Given the description of an element on the screen output the (x, y) to click on. 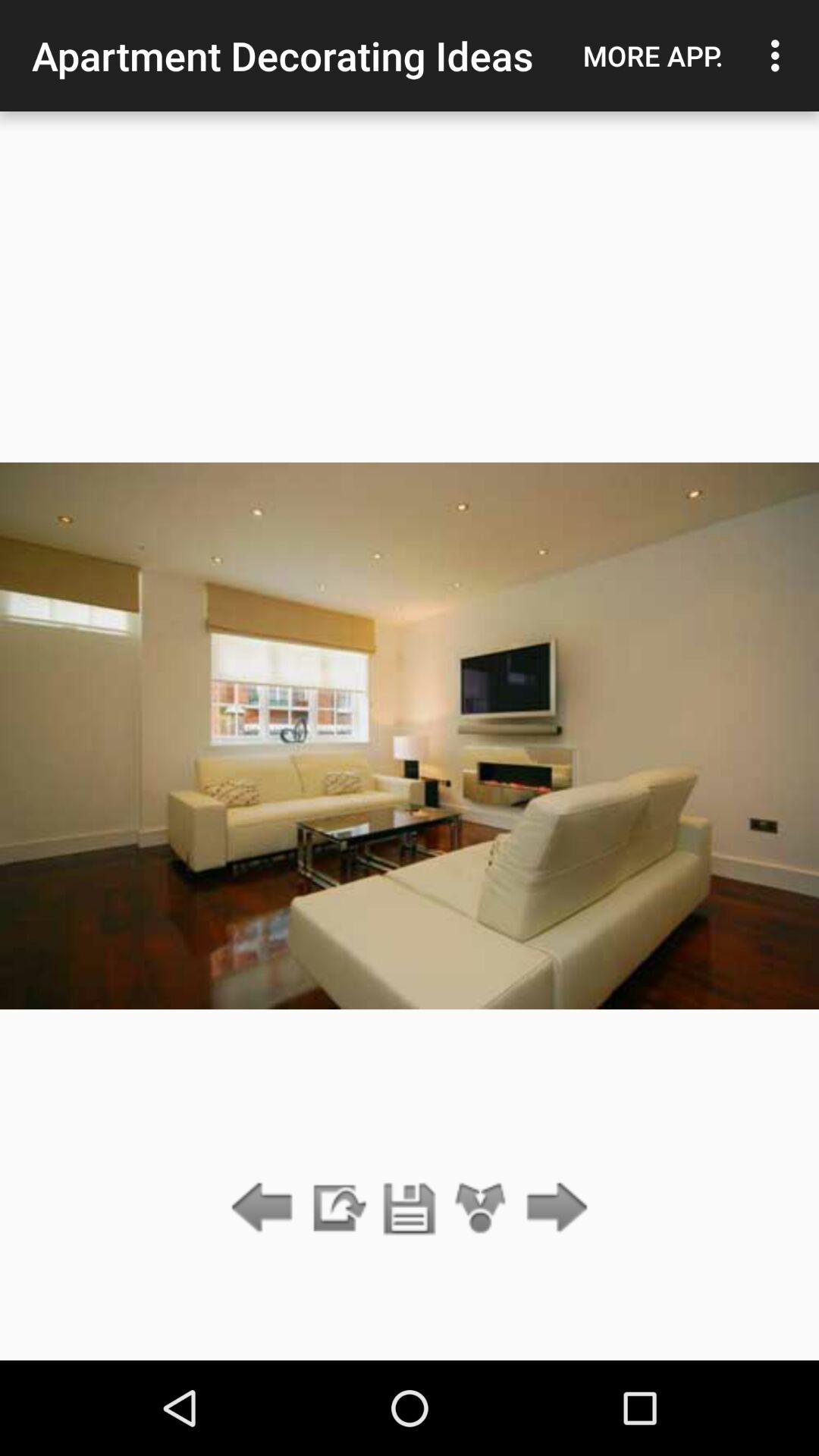
select the icon below more app. (552, 1209)
